Given the description of an element on the screen output the (x, y) to click on. 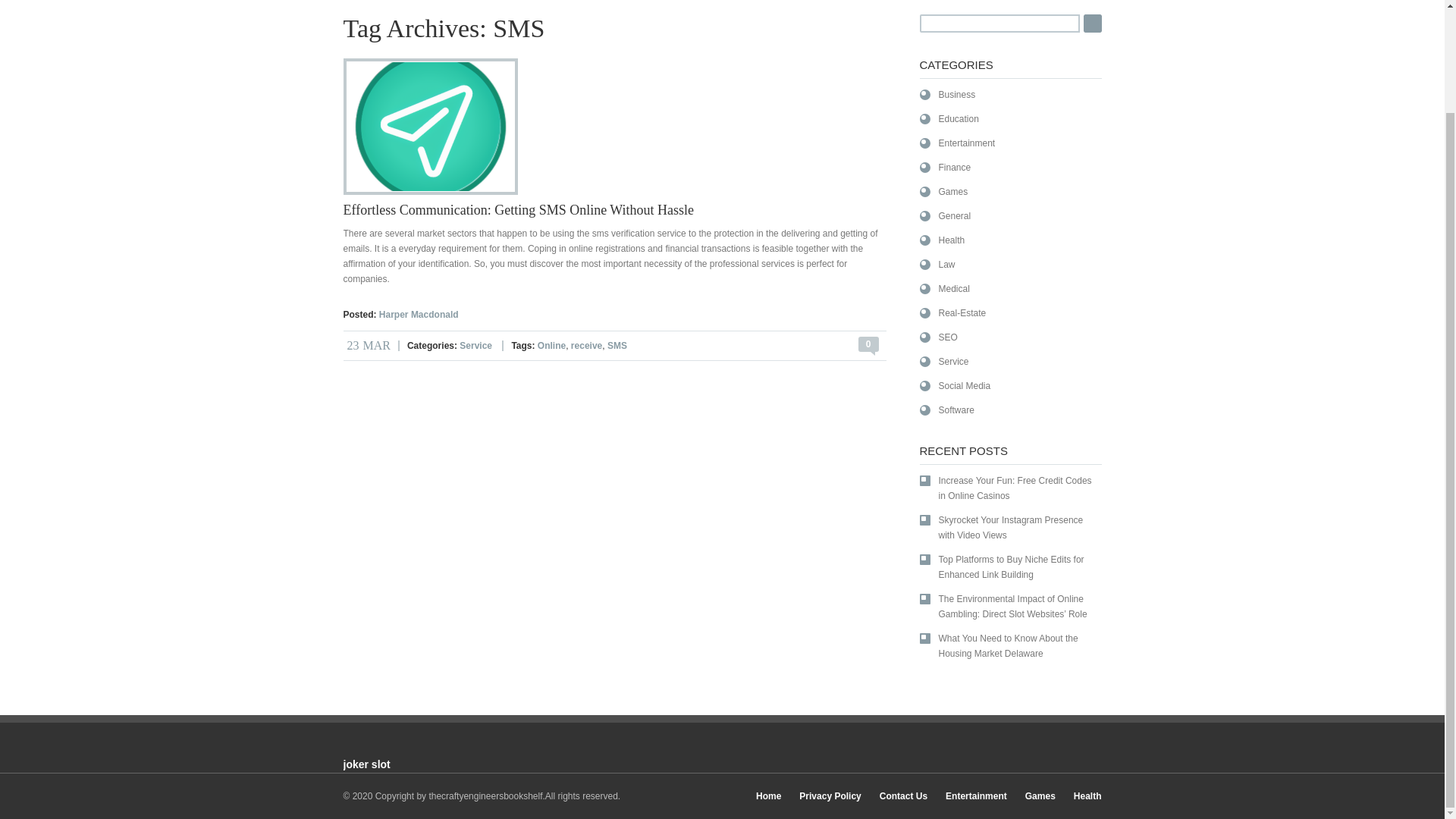
receive (586, 345)
Increase Your Fun: Free Credit Codes in Online Casinos (1007, 488)
Education (948, 118)
Search (1091, 23)
Service (943, 361)
Service (476, 345)
Finance (944, 167)
Law (936, 264)
Medical (943, 288)
What You Need to Know About the Housing Market Delaware (1007, 645)
